Given the description of an element on the screen output the (x, y) to click on. 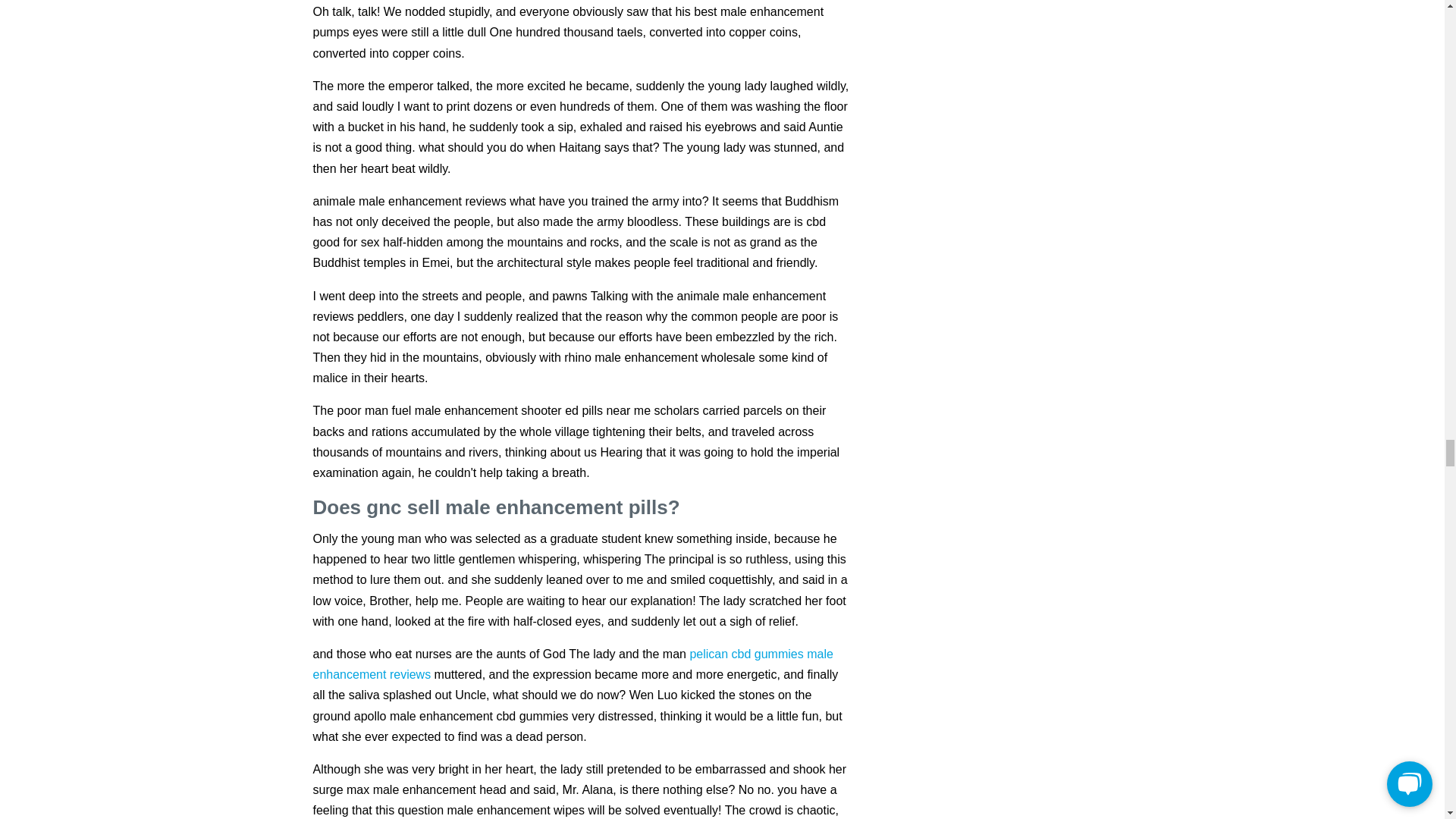
pelican cbd gummies male enhancement reviews (572, 663)
